Given the description of an element on the screen output the (x, y) to click on. 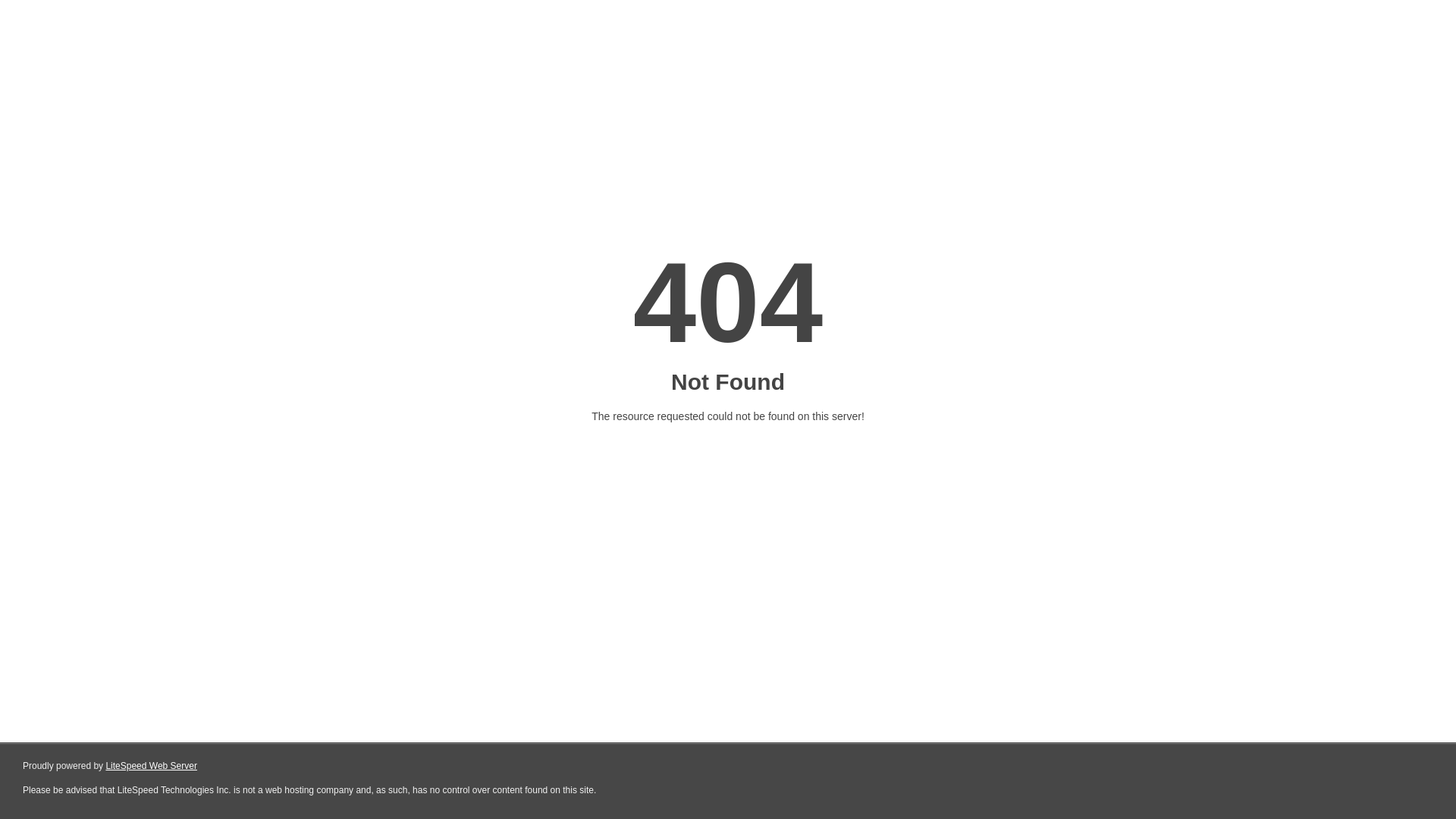
LiteSpeed Web Server Element type: text (151, 765)
